Given the description of an element on the screen output the (x, y) to click on. 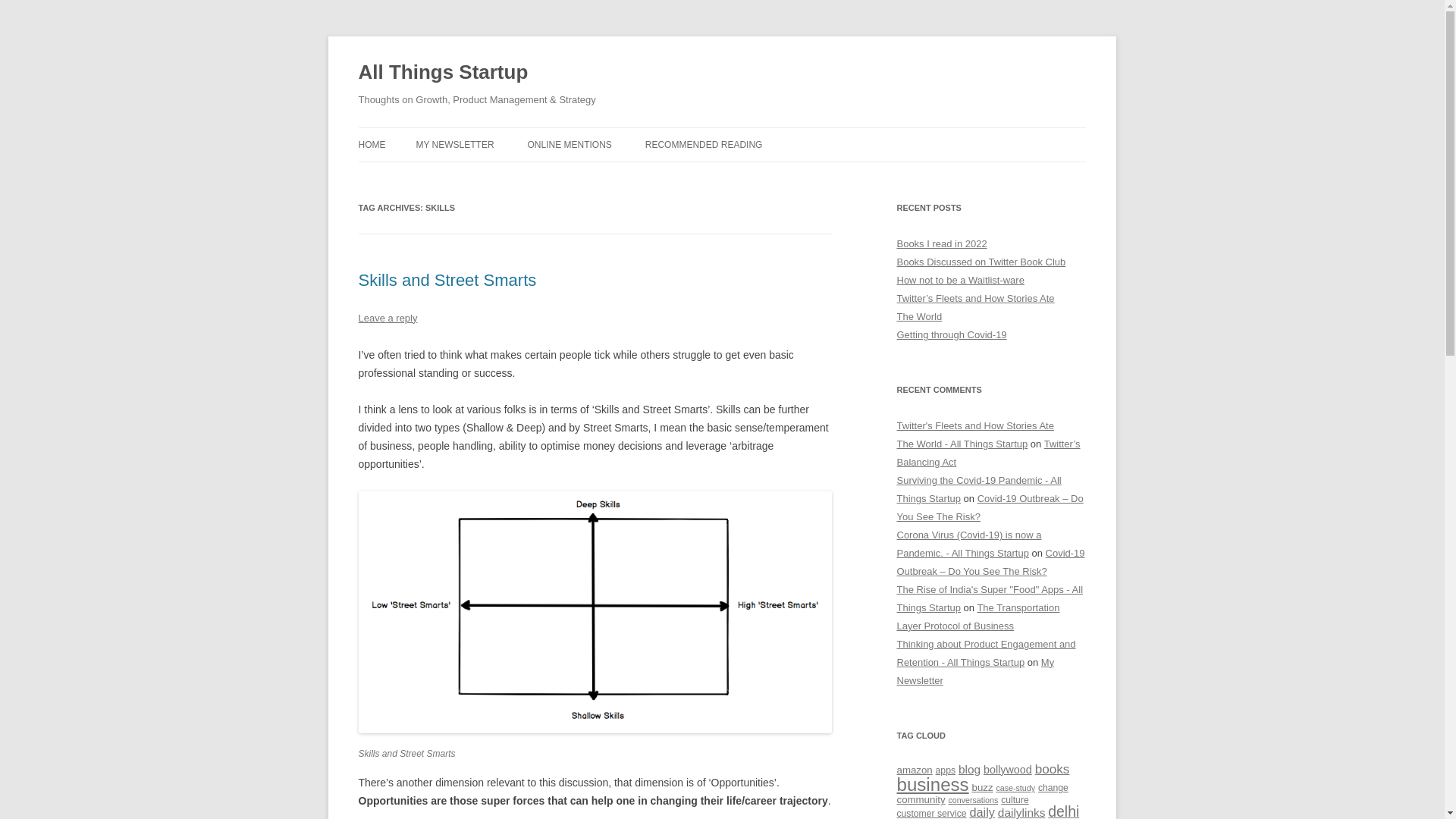
MY NEWSLETTER (453, 144)
The Rise of India's Super "Food" Apps - All Things Startup (989, 598)
Leave a reply (387, 317)
ONLINE MENTIONS (569, 144)
apps (945, 769)
My Newsletter (975, 671)
Books Discussed on Twitter Book Club (980, 261)
bollywood (1008, 769)
Surviving the Covid-19 Pandemic - All Things Startup (978, 489)
All Things Startup (442, 72)
How not to be a Waitlist-ware (959, 279)
